Given the description of an element on the screen output the (x, y) to click on. 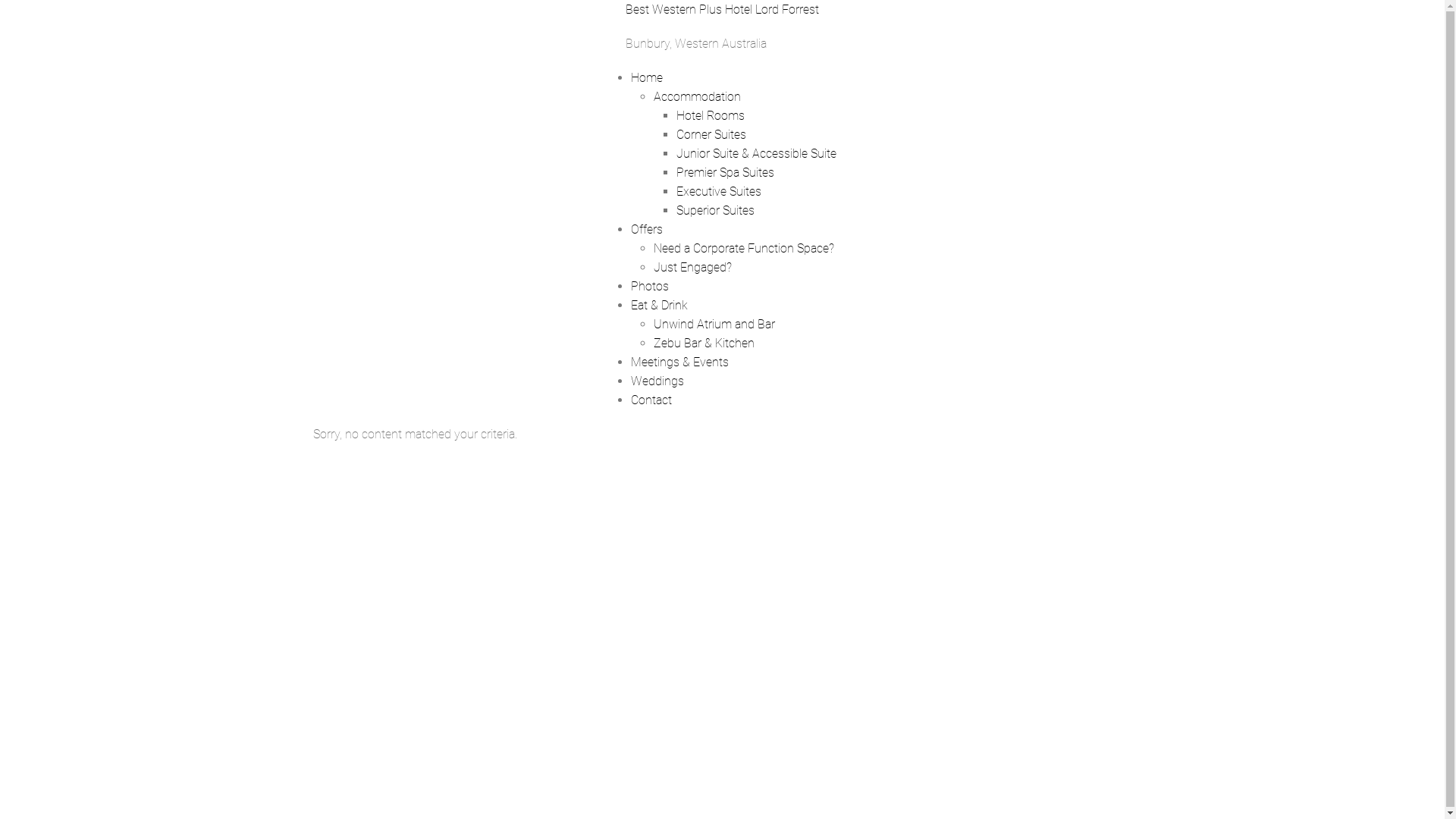
Meetings & Events Element type: text (679, 361)
Photos Element type: text (649, 286)
Corner Suites Element type: text (711, 134)
Home Element type: text (646, 77)
Need a Corporate Function Space? Element type: text (743, 248)
Just Engaged? Element type: text (692, 267)
Offers Element type: text (646, 229)
Superior Suites Element type: text (715, 210)
Junior Suite & Accessible Suite Element type: text (756, 153)
Premier Spa Suites Element type: text (725, 172)
Accommodation Element type: text (696, 96)
Executive Suites Element type: text (718, 191)
Best Western Plus Hotel Lord Forrest Element type: text (722, 9)
Unwind Atrium and Bar Element type: text (714, 323)
Contact Element type: text (650, 399)
Zebu Bar & Kitchen Element type: text (703, 342)
Hotel Rooms Element type: text (710, 115)
Weddings Element type: text (657, 380)
Eat & Drink Element type: text (658, 305)
